Given the description of an element on the screen output the (x, y) to click on. 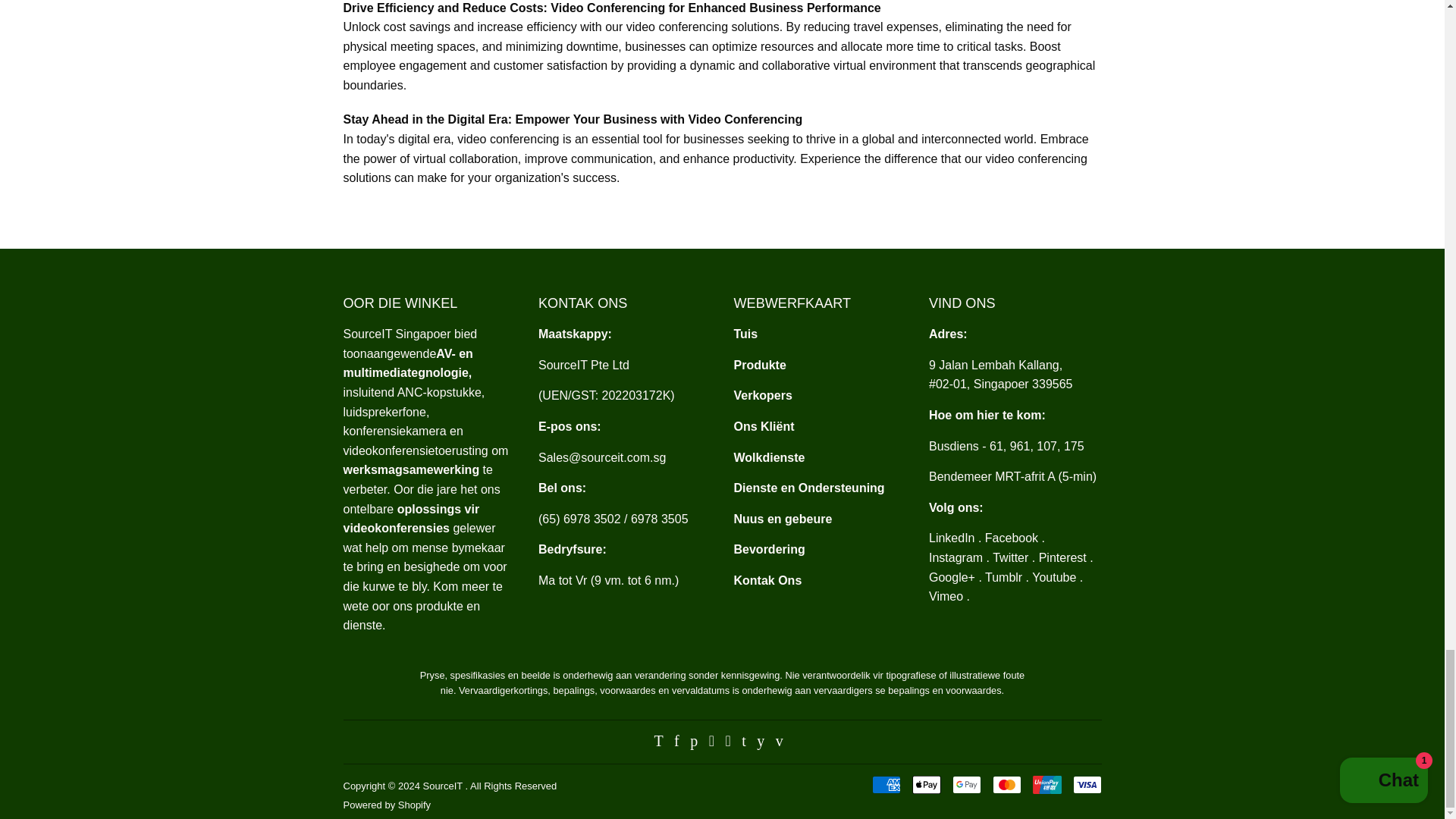
Werksmagkommunikasie en -samewerking (410, 469)
Mastercard (1005, 784)
Oplossing vir videokonferensies (410, 518)
Apple Pay (925, 784)
Aanbiedings en promosie (769, 549)
Oor SourceIT Pte Ltd (406, 363)
Union Pay (1046, 784)
Ons Versamelings (759, 364)
Handelsmerke waarmee ons werk (762, 395)
SourceIT - Videokonferensieverskaffer in Singapoer (745, 333)
Visa (1085, 784)
American Express (886, 784)
Wolkdienste (769, 457)
Google Pay (966, 784)
